Given the description of an element on the screen output the (x, y) to click on. 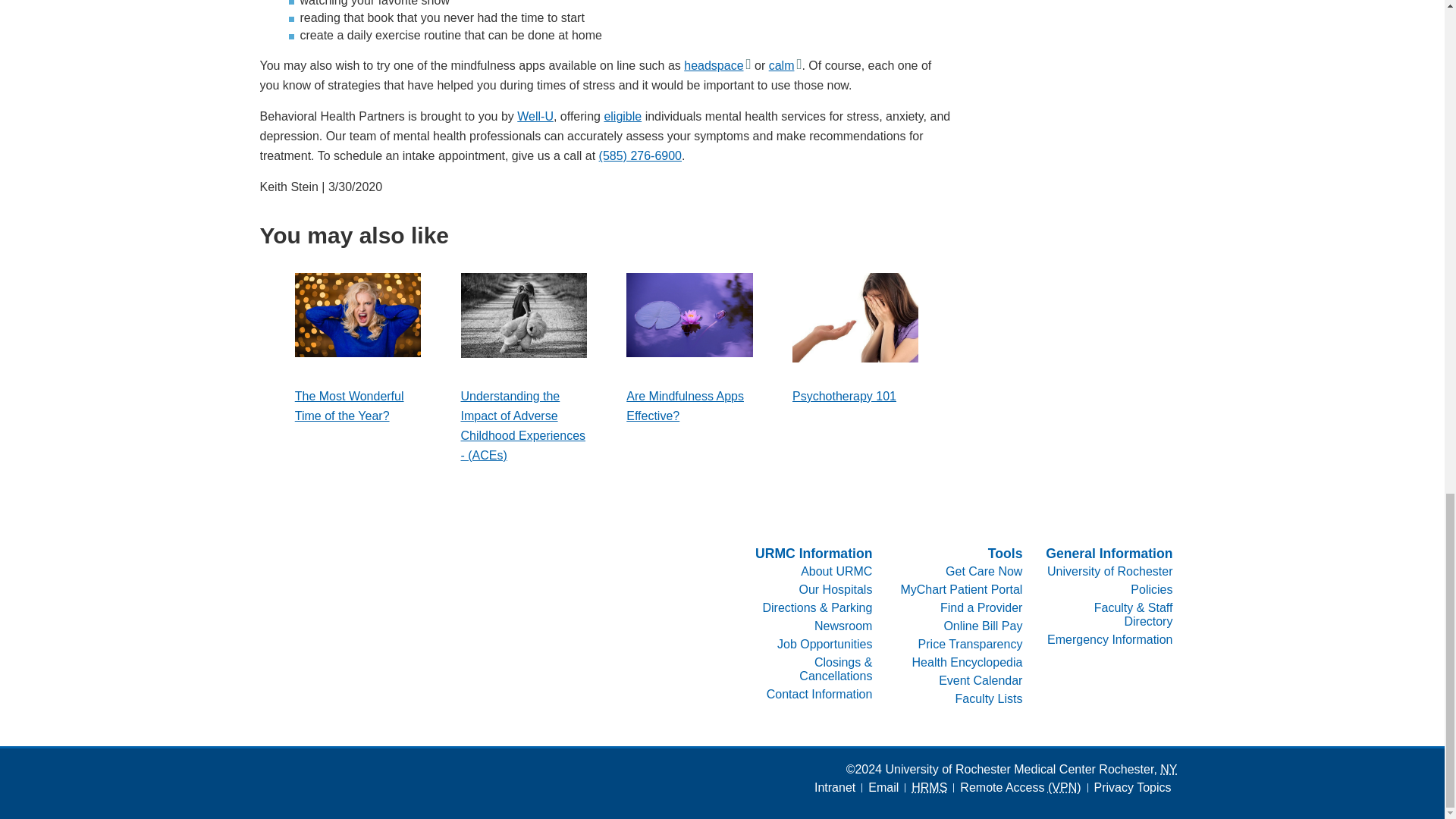
Virtual Private Network (1064, 787)
New York (1168, 768)
Human Resources Management System (929, 787)
